Given the description of an element on the screen output the (x, y) to click on. 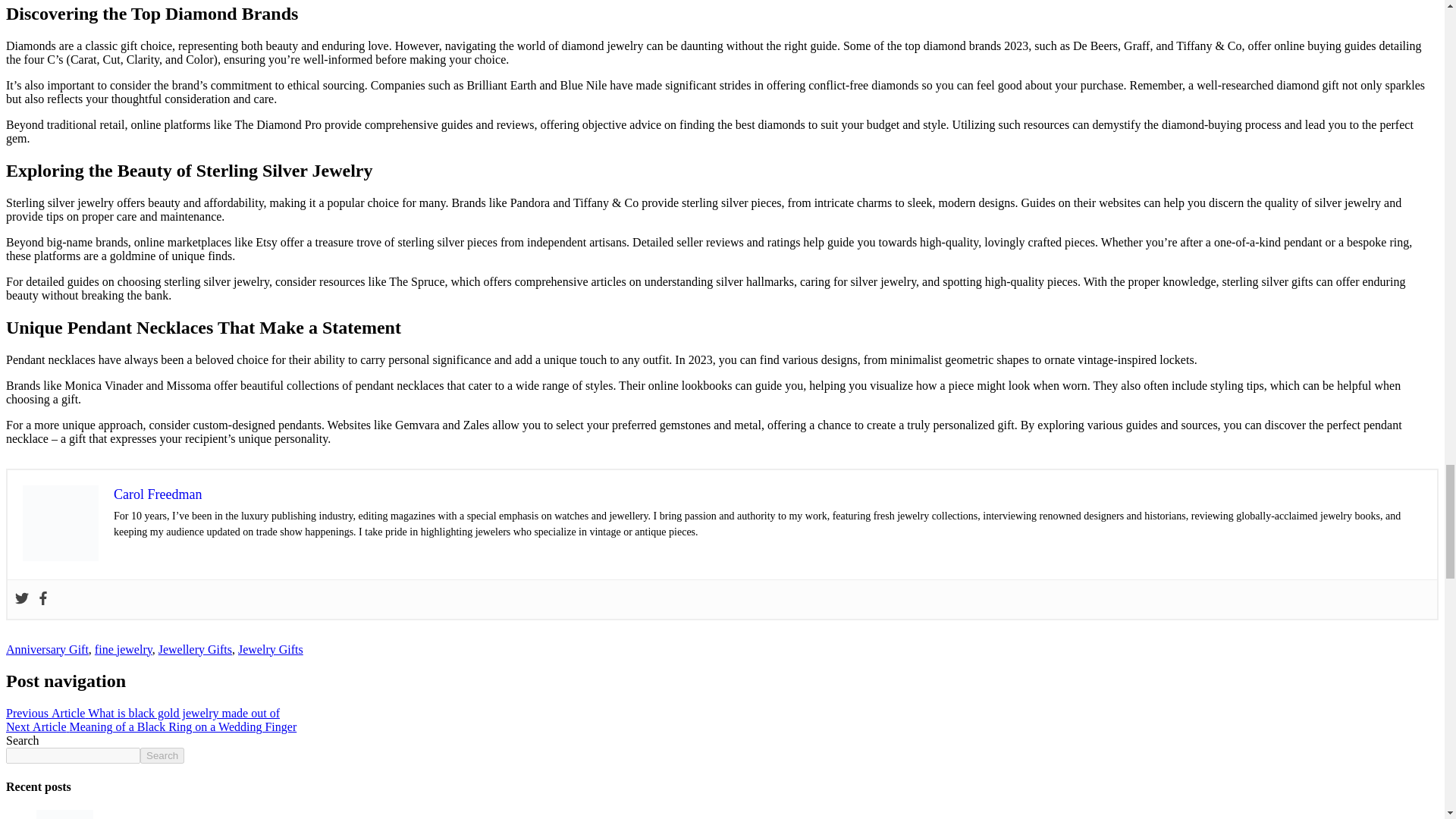
Anniversary Gift (46, 649)
Jewellery Gifts (194, 649)
Carol Freedman (157, 494)
fine jewelry (123, 649)
